Given the description of an element on the screen output the (x, y) to click on. 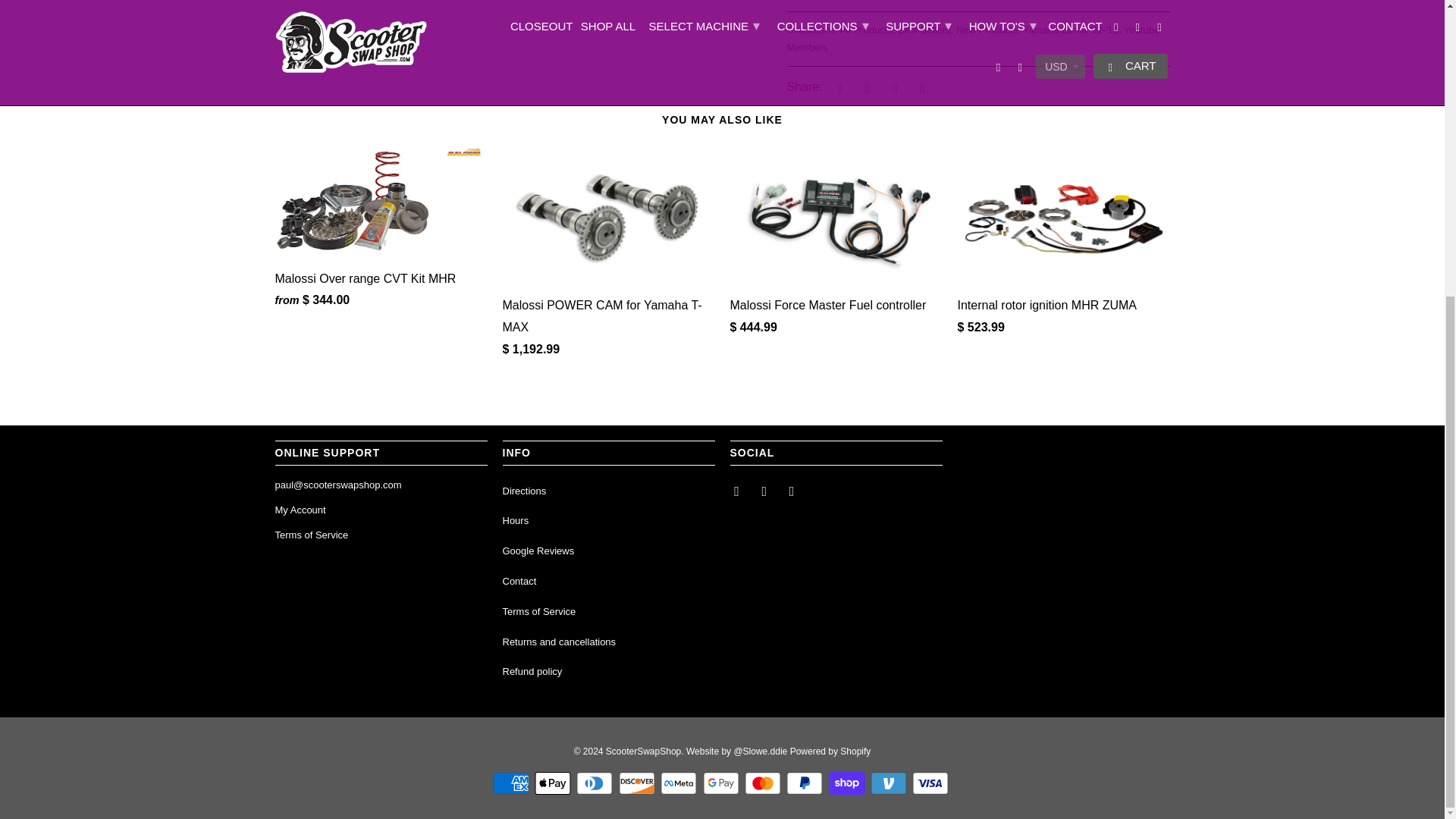
New Products (986, 30)
Discover (638, 783)
Mastercard (764, 783)
Share this on Pinterest (892, 87)
Google Pay (721, 783)
Email this to a friend (920, 87)
Apple Pay (553, 783)
PayPal (805, 783)
Diners Club (595, 783)
Youtube Members (973, 38)
American Express (512, 783)
Venmo (890, 783)
All Products (866, 30)
Best Sellers (924, 30)
Shop Pay (847, 783)
